Given the description of an element on the screen output the (x, y) to click on. 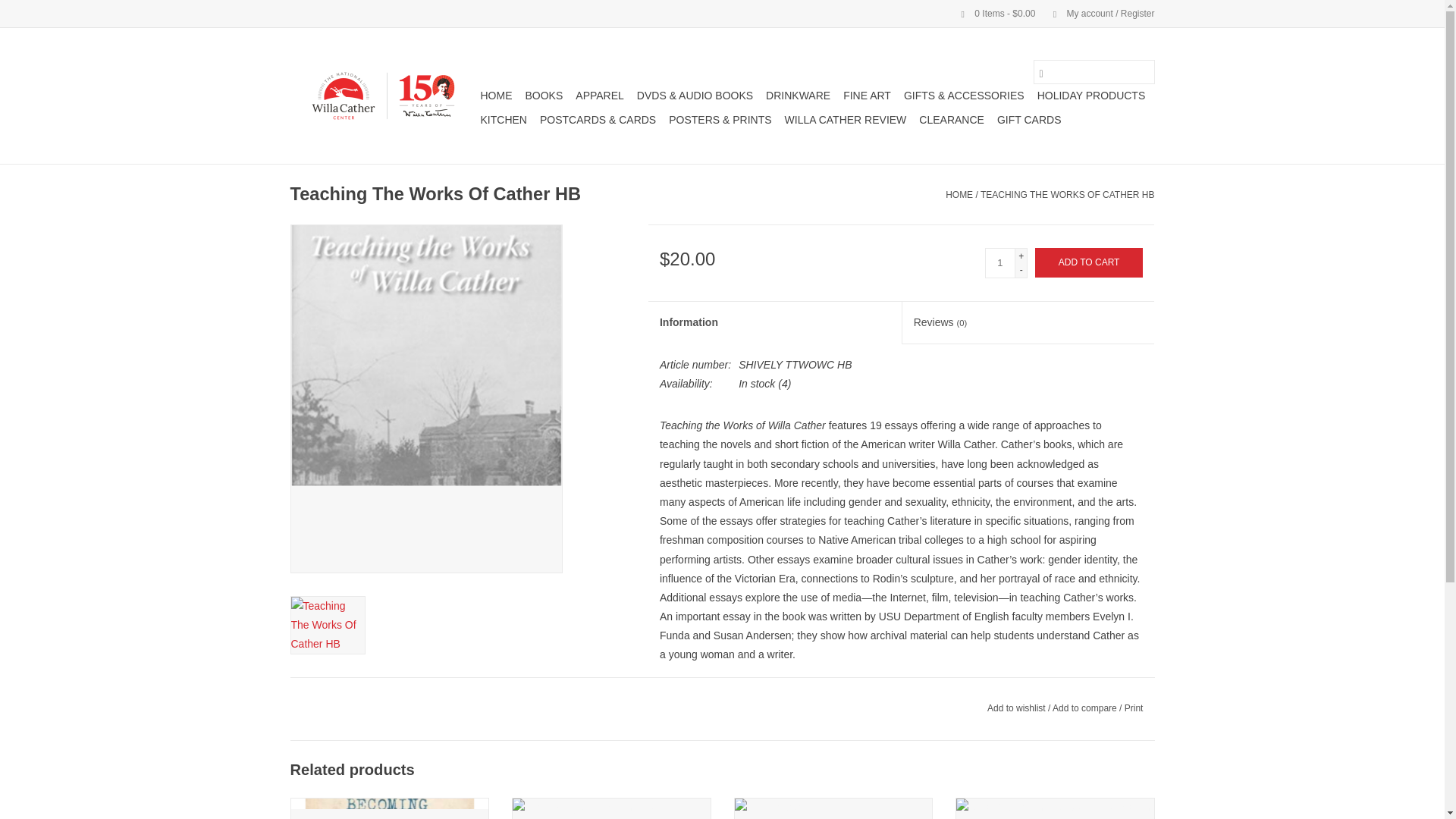
Cart (992, 13)
HOME (958, 194)
1 (999, 263)
ADD TO CART (1088, 262)
HOME (496, 95)
GIFT CARDS (1028, 119)
Drinkware (797, 95)
Information (774, 322)
HOLIDAY PRODUCTS (1091, 95)
APPAREL (599, 95)
